Given the description of an element on the screen output the (x, y) to click on. 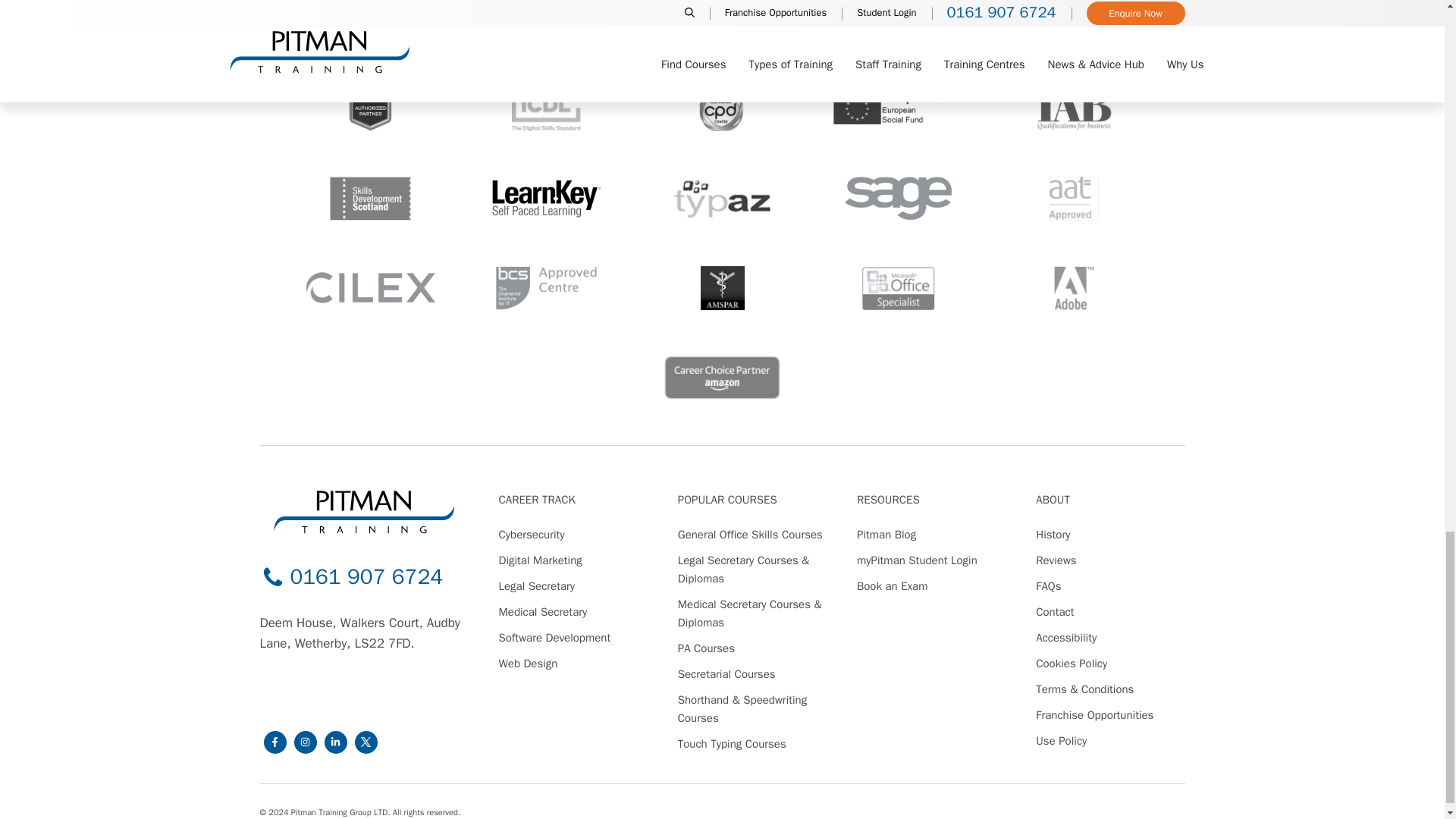
pitman-logo (363, 511)
